Given the description of an element on the screen output the (x, y) to click on. 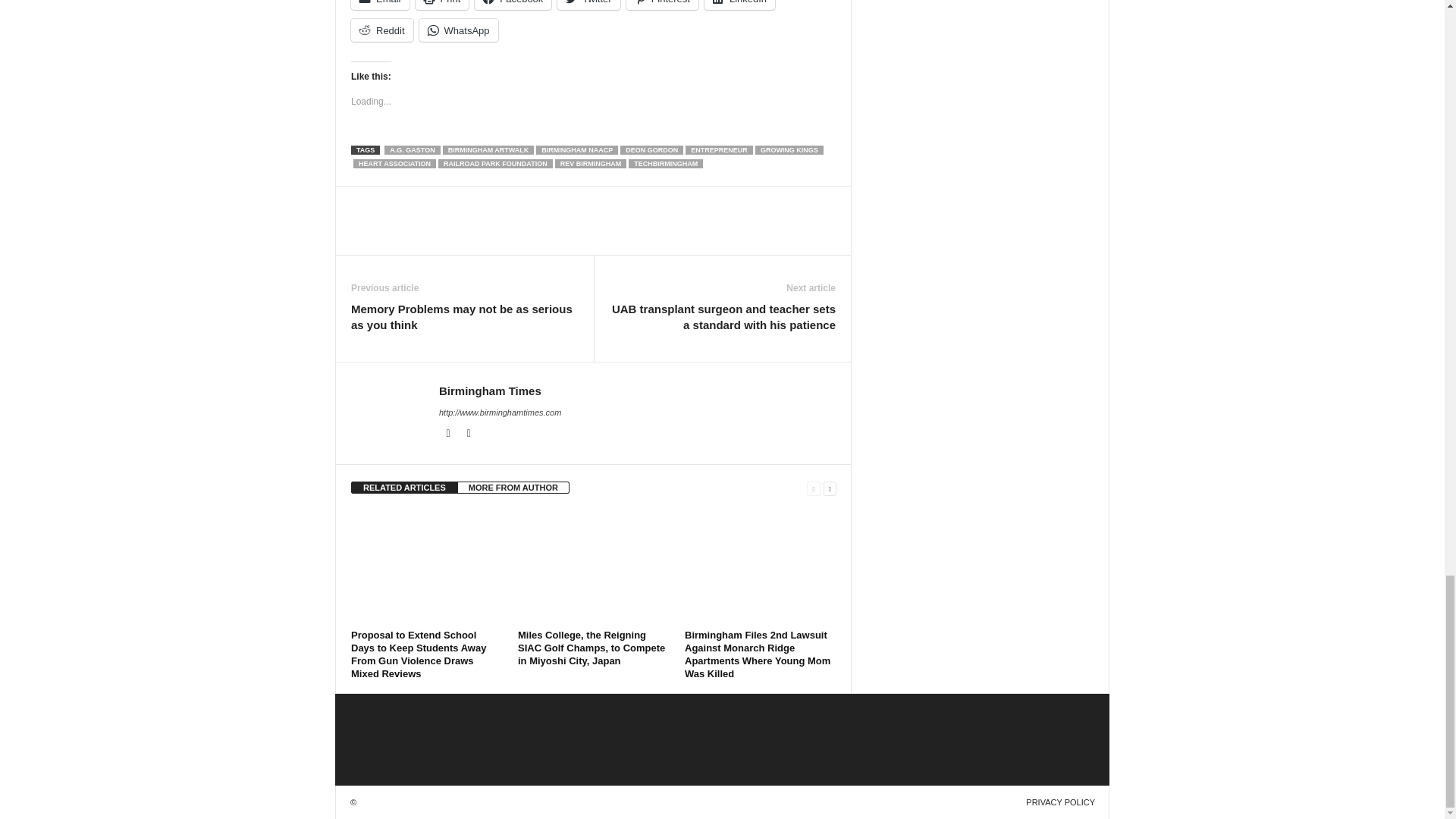
Click to share on Reddit (381, 29)
bottomFacebookLike (390, 201)
Click to share on Facebook (512, 4)
Click to share on Pinterest (662, 4)
Click to share on WhatsApp (458, 29)
Click to share on Twitter (588, 4)
Click to share on LinkedIn (739, 4)
Click to print (441, 4)
Click to email a link to a friend (379, 4)
